Given the description of an element on the screen output the (x, y) to click on. 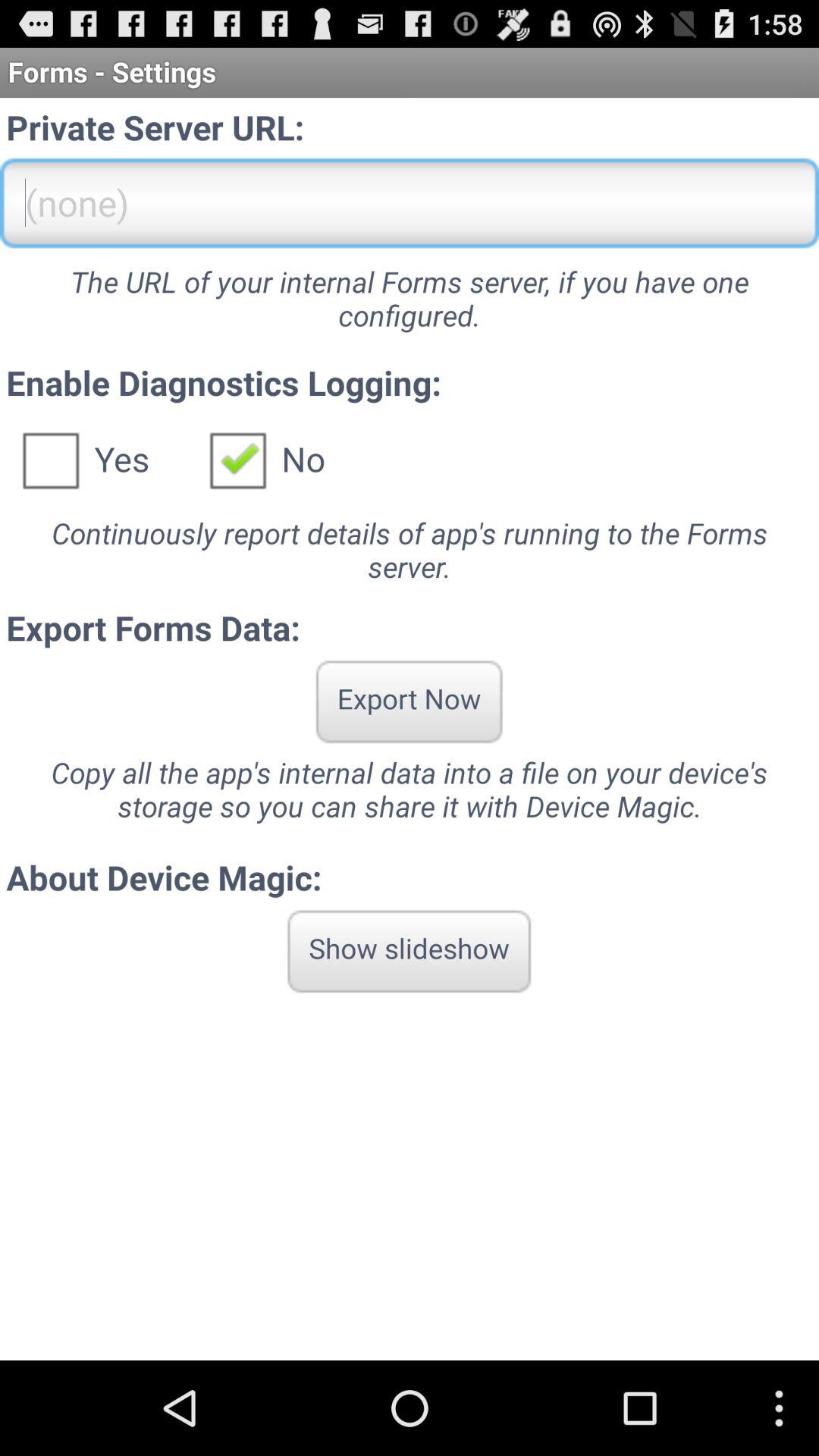
flip until the show slideshow icon (408, 951)
